Given the description of an element on the screen output the (x, y) to click on. 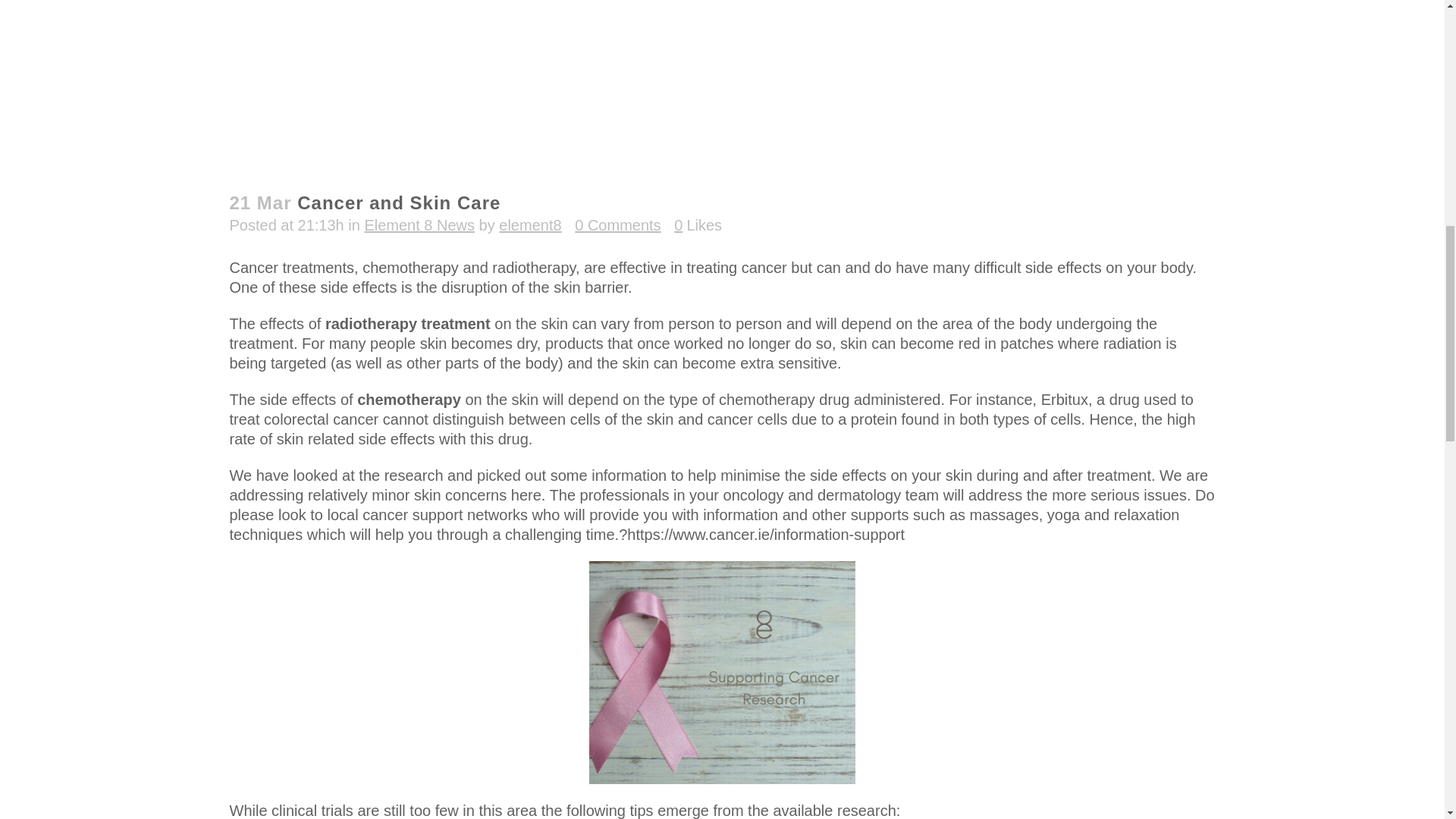
element8 (529, 225)
Like this (698, 225)
Element 8 News (419, 225)
0 Likes (698, 225)
0 Comments (618, 225)
